Given the description of an element on the screen output the (x, y) to click on. 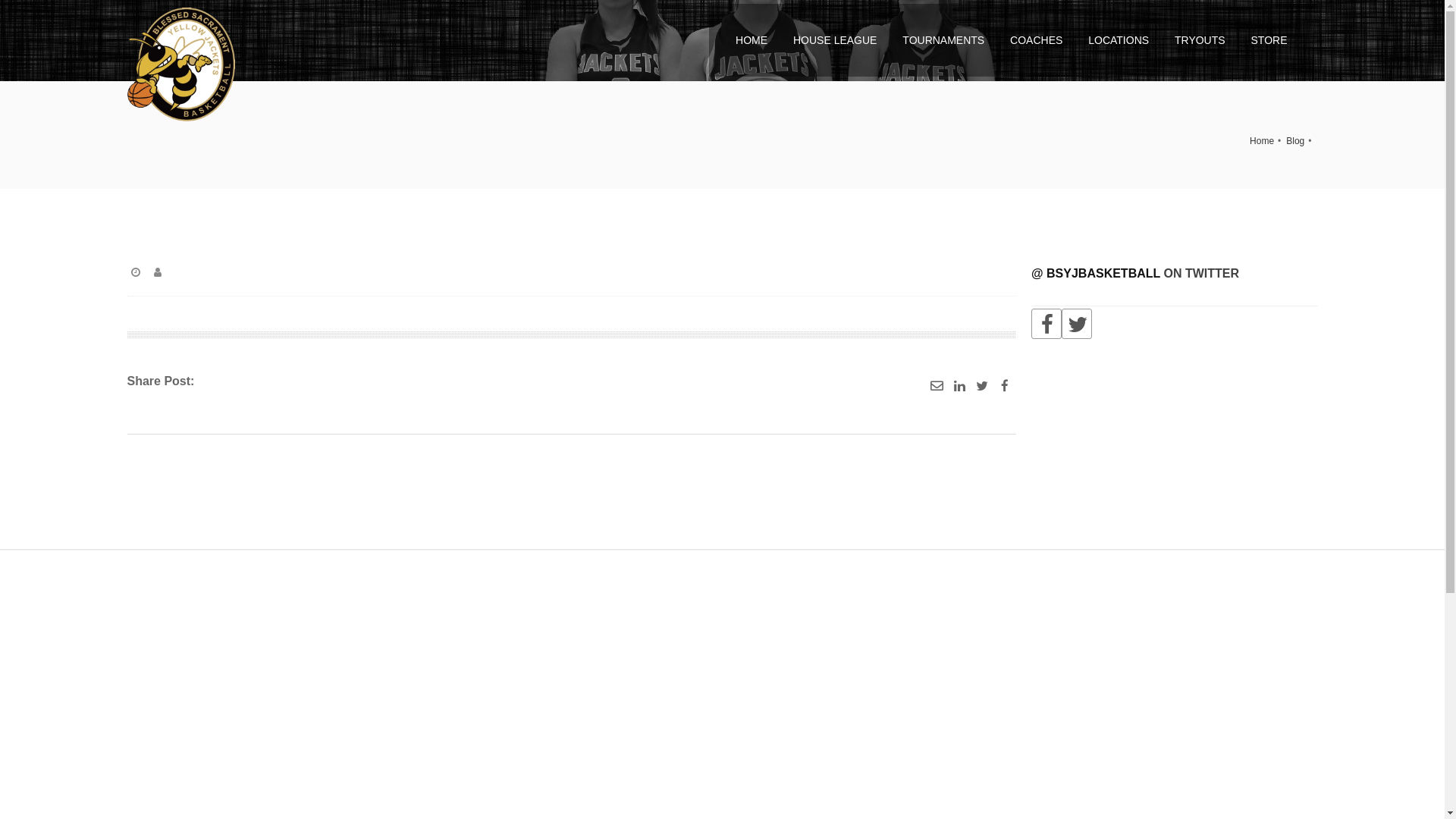
@ BSYJBASKETBALL Element type: text (1095, 272)
Facebook Element type: hover (1046, 323)
TRYOUTS Element type: text (1199, 39)
TOURNAMENTS Element type: text (943, 39)
COACHES Element type: text (1035, 39)
HOUSE LEAGUE Element type: text (834, 39)
Twitter Element type: hover (1076, 323)
STORE Element type: text (1269, 39)
Home Element type: text (1261, 140)
HOME Element type: text (751, 39)
Blog Element type: text (1295, 140)
LOCATIONS Element type: text (1118, 39)
